Given the description of an element on the screen output the (x, y) to click on. 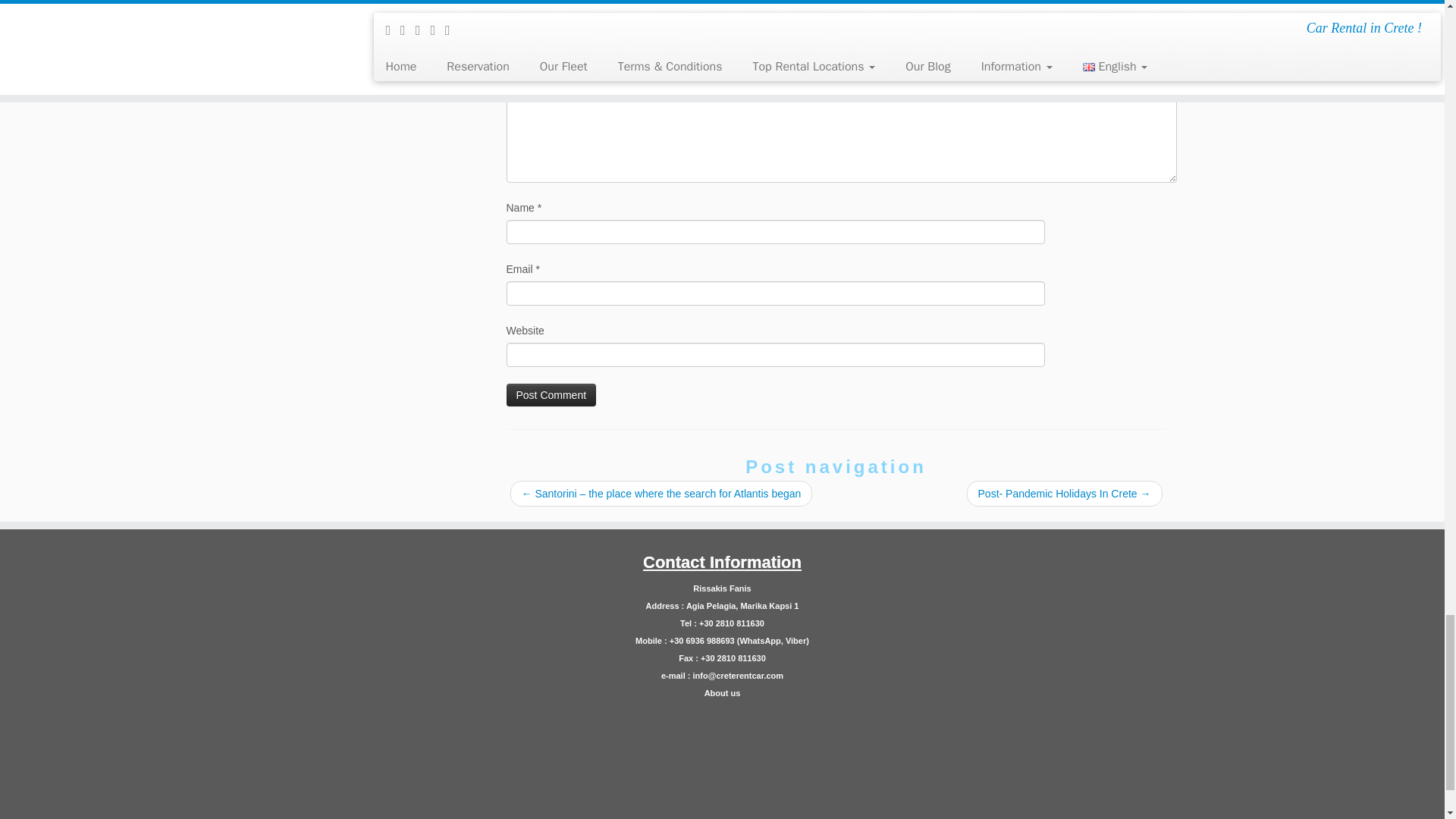
Post Comment (551, 395)
